Given the description of an element on the screen output the (x, y) to click on. 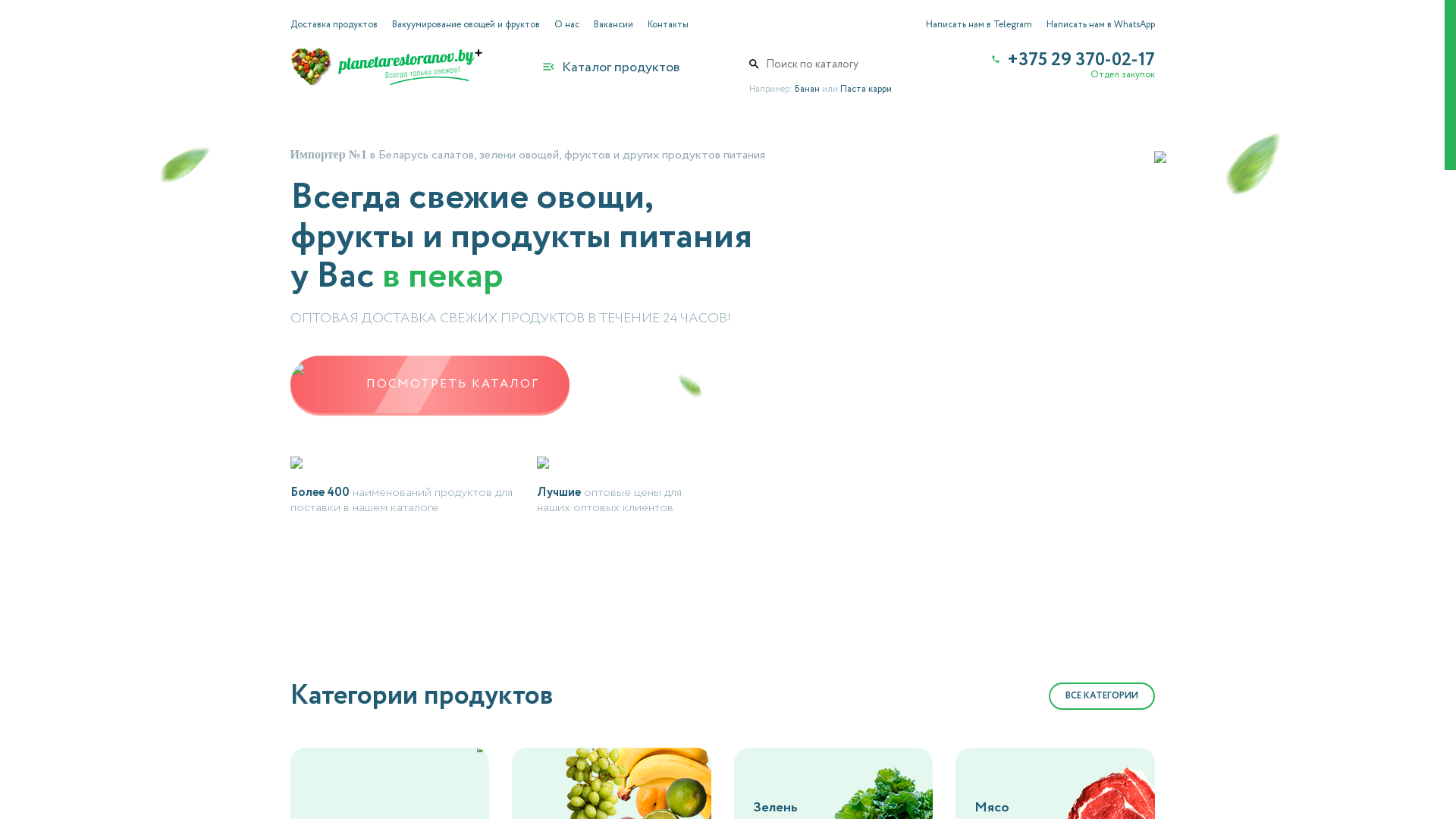
+375 29 370-02-17 Element type: text (1070, 60)
